Given the description of an element on the screen output the (x, y) to click on. 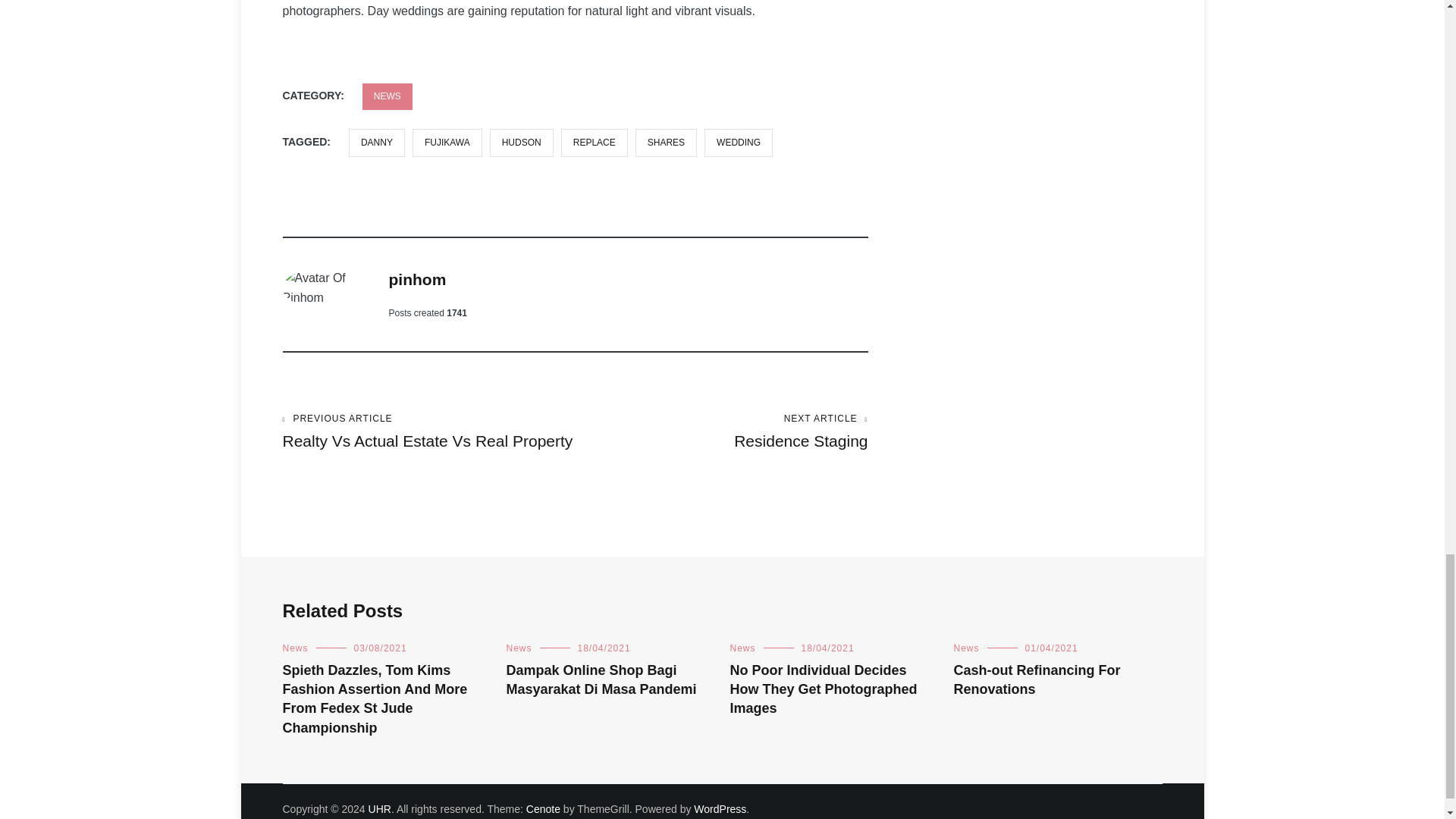
HUDSON (521, 142)
Posts by pinhom (416, 279)
pinhom (416, 279)
WEDDING (738, 142)
UHR (721, 431)
REPLACE (379, 808)
FUJIKAWA (593, 142)
DANNY (446, 142)
